Given the description of an element on the screen output the (x, y) to click on. 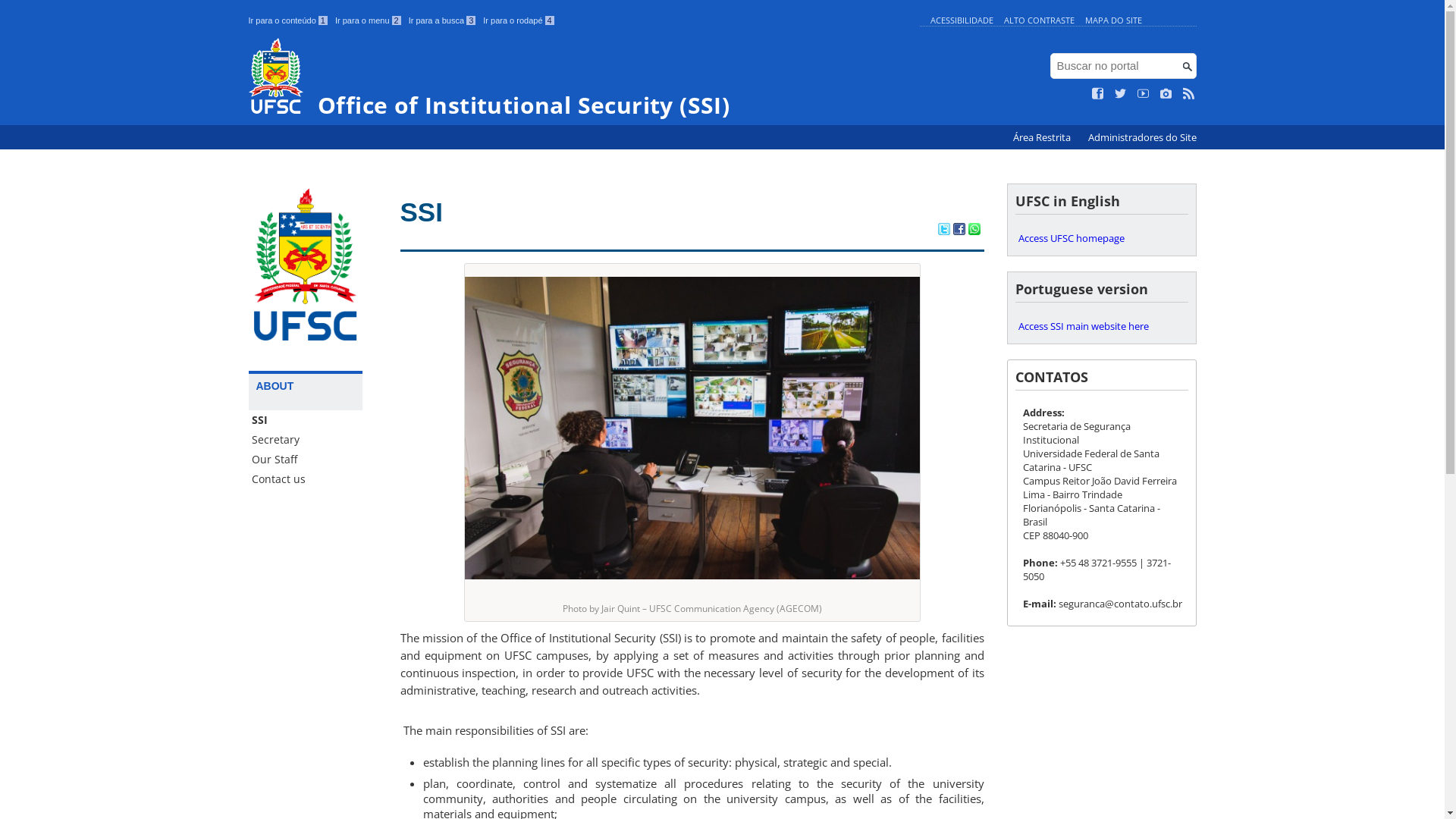
MAPA DO SITE Element type: text (1112, 19)
Our Staff Element type: text (305, 459)
Contact us Element type: text (305, 479)
SSI Element type: text (305, 419)
Access SSI main website here Element type: text (1100, 325)
Compartilhar no Twitter Element type: hover (943, 230)
Compartilhar no Facebook Element type: hover (958, 230)
Siga no Twitter Element type: hover (1120, 93)
Compartilhar no WhatsApp Element type: hover (973, 230)
Secretary Element type: text (305, 439)
Administradores do Site Element type: text (1141, 137)
Curta no Facebook Element type: hover (1098, 93)
Access UFSC homepage Element type: text (1100, 237)
ACESSIBILIDADE Element type: text (960, 19)
Veja no Instagram Element type: hover (1166, 93)
ALTO CONTRASTE Element type: text (1039, 19)
SSI Element type: text (421, 211)
Ir para o menu 2 Element type: text (368, 20)
Ir para a busca 3 Element type: text (442, 20)
Office of Institutional Security (SSI) Element type: text (580, 77)
